Given the description of an element on the screen output the (x, y) to click on. 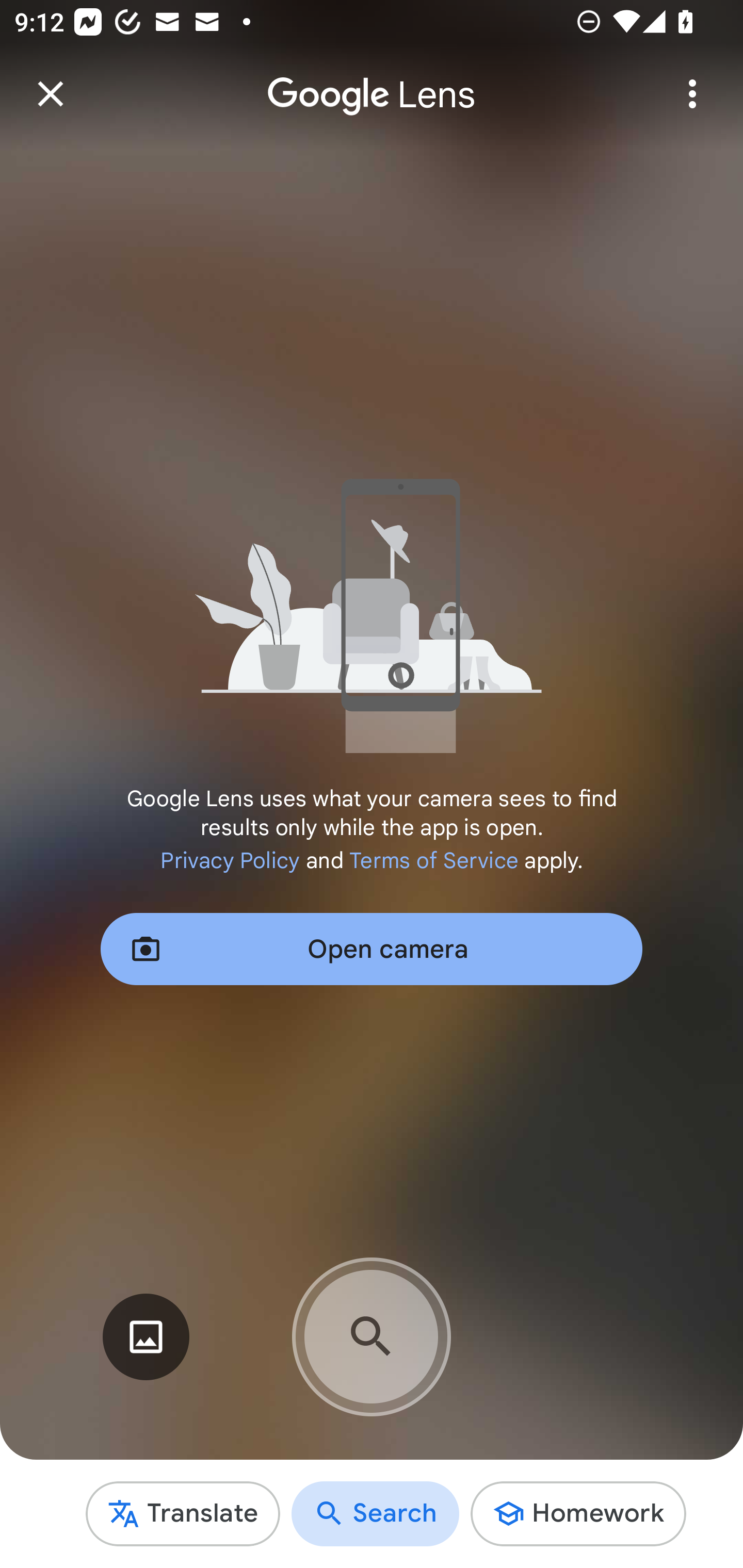
Google Lens Lens (371, 80)
Close (50, 94)
More options (692, 94)
Open camera (371, 949)
Camera search (371, 1336)
Select an image from gallery (145, 1336)
Translate Switch to Translate mode (183, 1513)
Search Switch to Search mode (375, 1513)
Homework Switch to Homework mode (578, 1513)
